Given the description of an element on the screen output the (x, y) to click on. 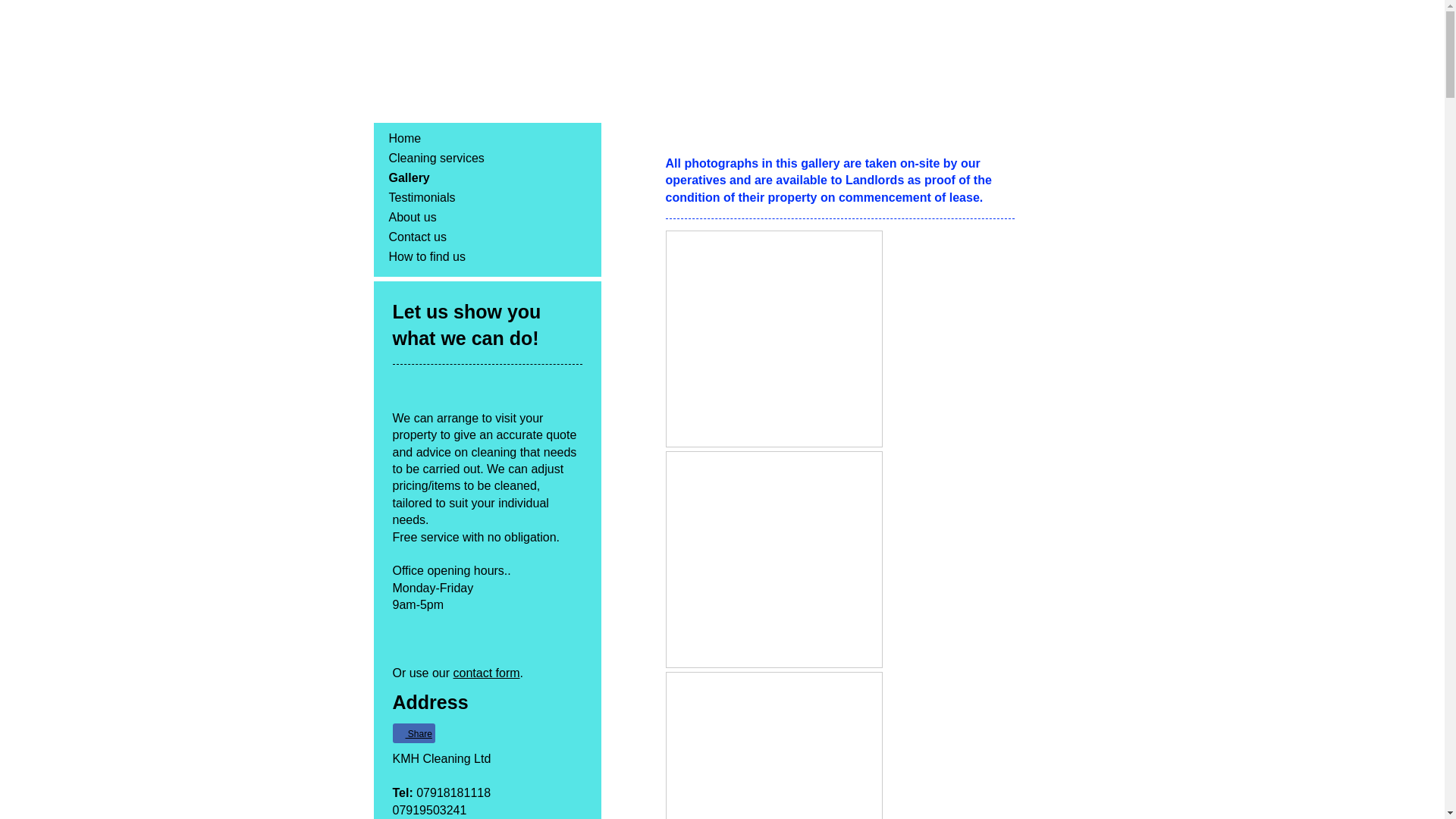
Gallery (486, 178)
contact form (485, 672)
Contact us (486, 237)
Cleaning services (486, 158)
About us (486, 217)
Home (486, 138)
Share (414, 732)
How to find us (486, 256)
Testimonials (486, 198)
